Given the description of an element on the screen output the (x, y) to click on. 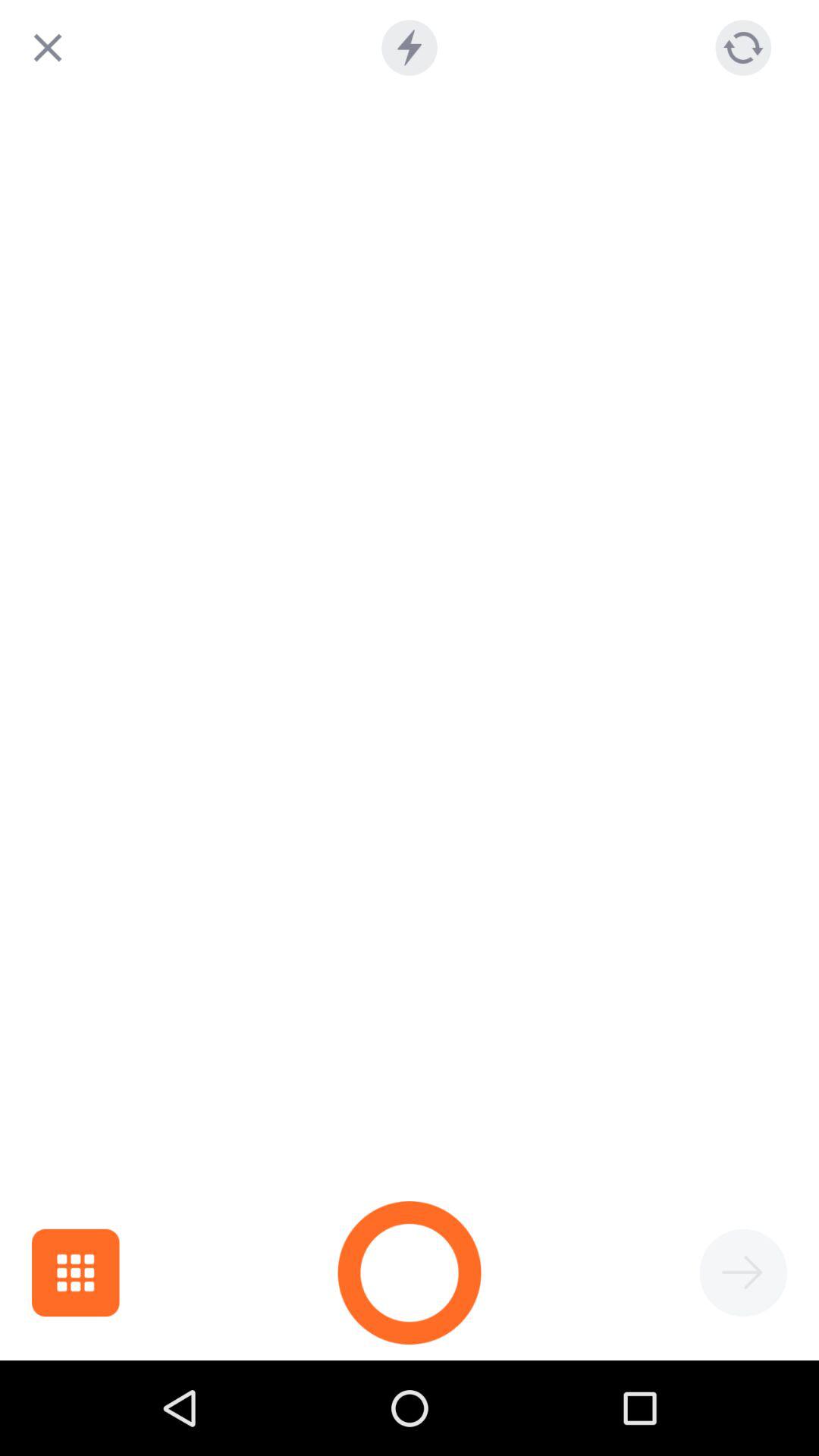
menu options (75, 1272)
